Given the description of an element on the screen output the (x, y) to click on. 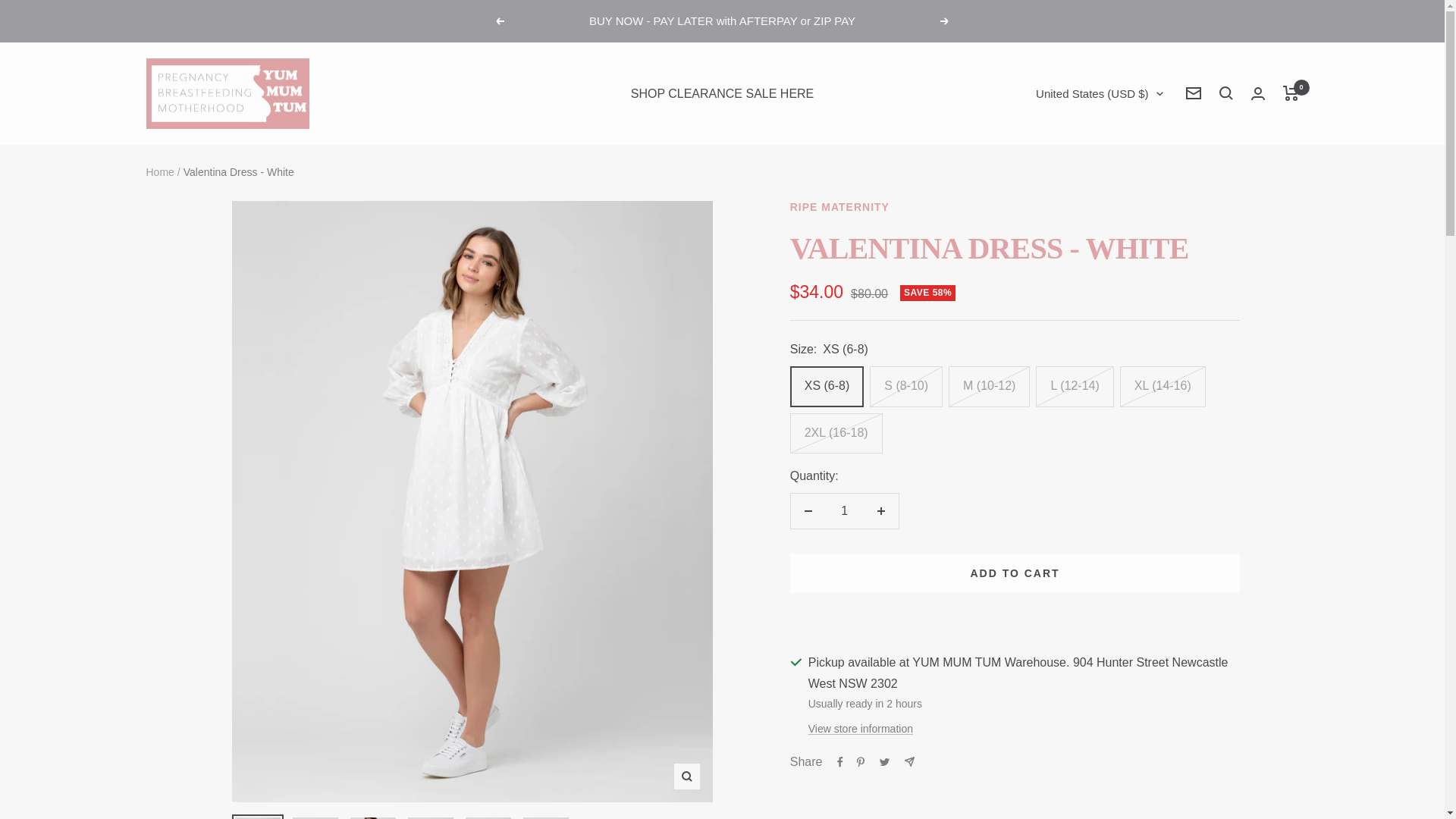
AX (1004, 173)
BZ (1004, 699)
AZ (1004, 515)
SHOP CLEARANCE SALE HERE (721, 93)
1 (844, 510)
Previous (499, 21)
Next (944, 21)
AG (1004, 331)
BE (1004, 673)
BD (1004, 595)
BM (1004, 752)
AF (1004, 147)
BS (1004, 541)
AM (1004, 383)
AR (1004, 357)
